Given the description of an element on the screen output the (x, y) to click on. 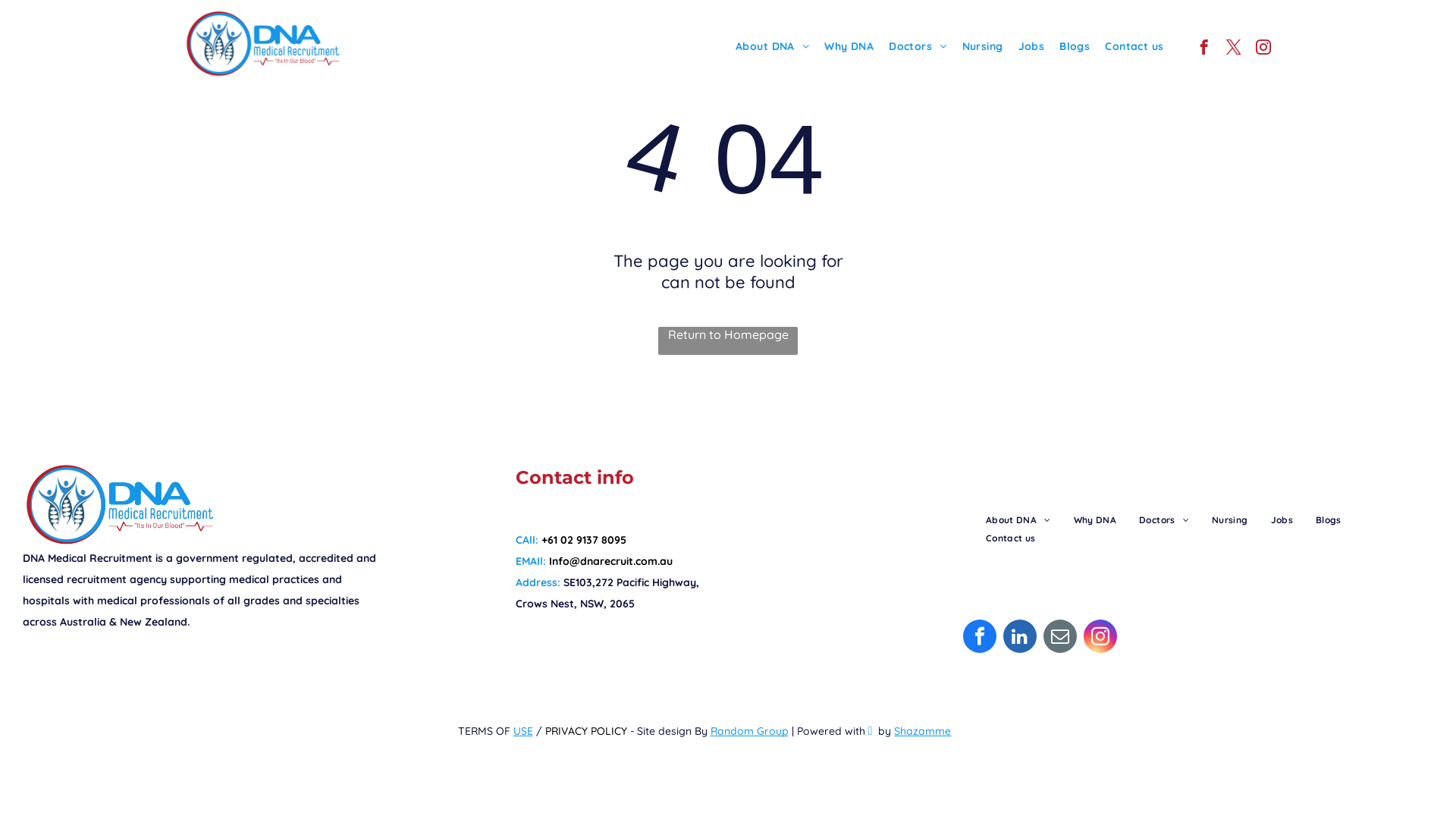
About DNA Element type: text (1018, 520)
Return to Homepage Element type: text (727, 340)
PRIVACY POLICY Element type: text (586, 730)
Doctors Element type: text (1163, 520)
Jobs Element type: text (1031, 45)
Contact us Element type: text (1010, 538)
Blogs Element type: text (1328, 520)
Random Group Element type: text (749, 730)
Why DNA Element type: text (1095, 520)
Contact us Element type: text (1133, 45)
About DNA Element type: text (772, 45)
Doctors Element type: text (917, 45)
Jobs Element type: text (1281, 520)
Nursing Element type: text (1229, 520)
Blogs Element type: text (1074, 45)
Shazamme Element type: text (922, 730)
USE Element type: text (523, 730)
Why DNA Element type: text (848, 45)
Nursing Element type: text (982, 45)
